Given the description of an element on the screen output the (x, y) to click on. 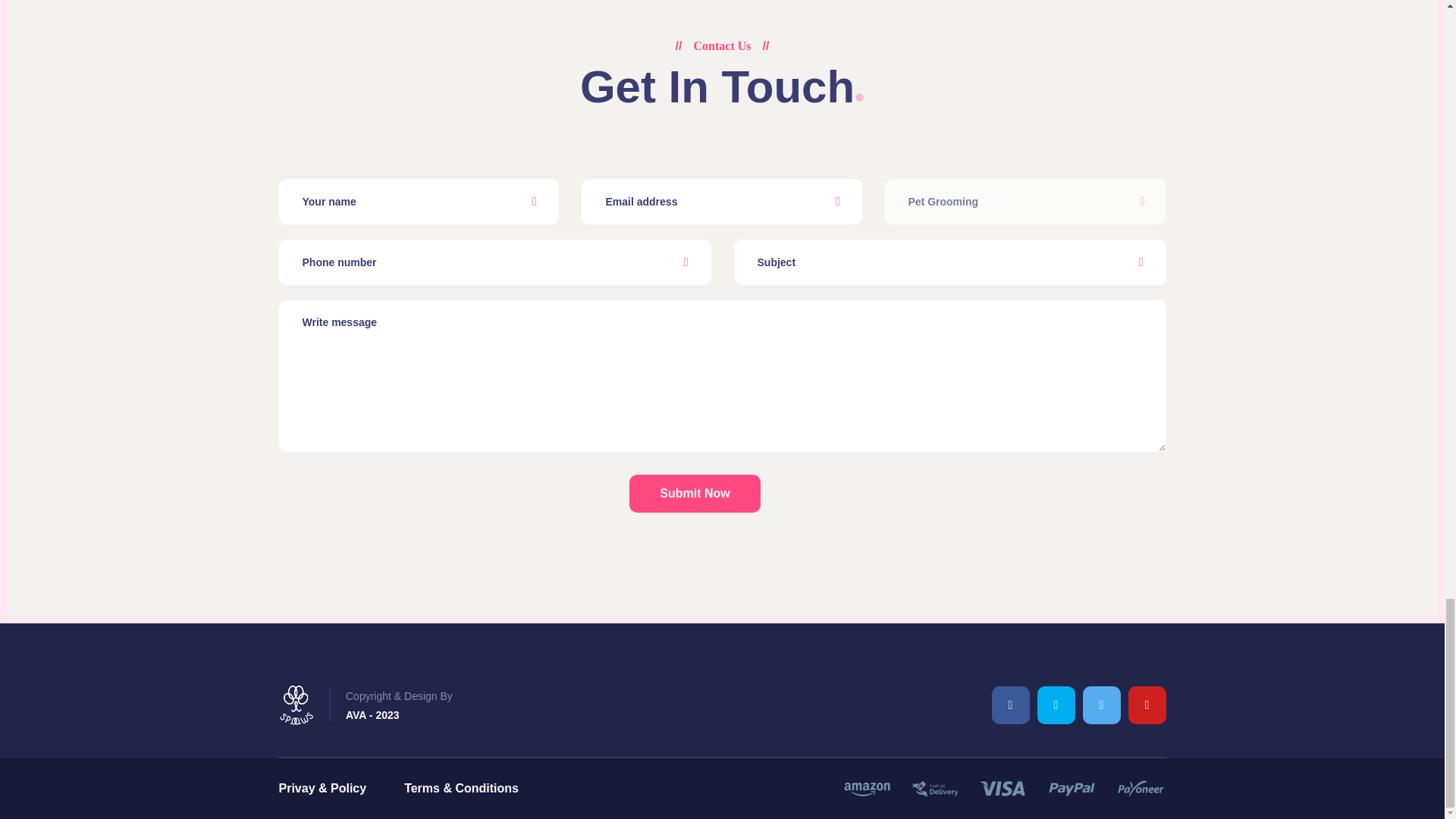
Submit Now (694, 493)
